Given the description of an element on the screen output the (x, y) to click on. 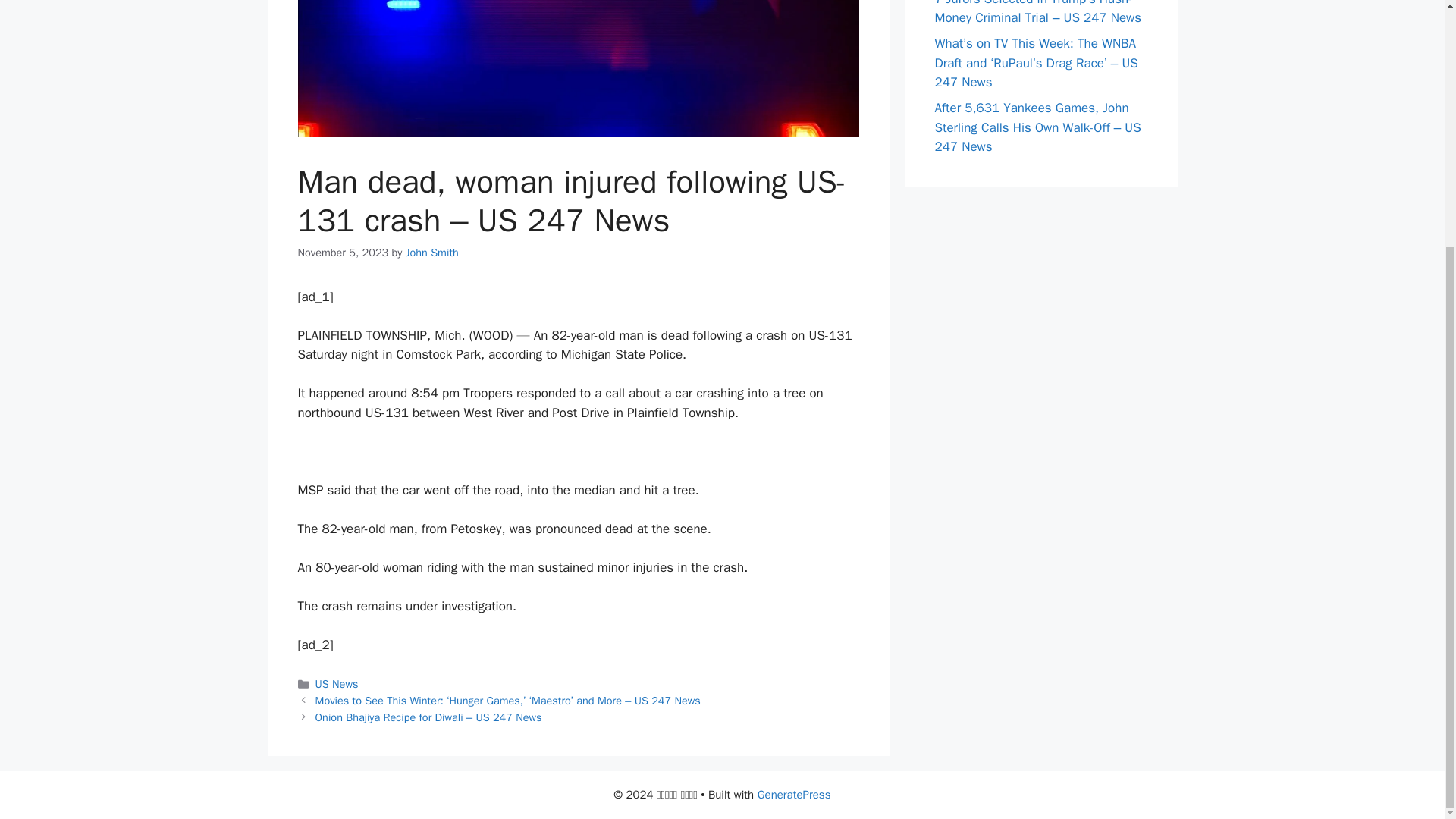
GeneratePress (794, 794)
US News (336, 684)
John Smith (432, 252)
View all posts by John Smith (432, 252)
